Given the description of an element on the screen output the (x, y) to click on. 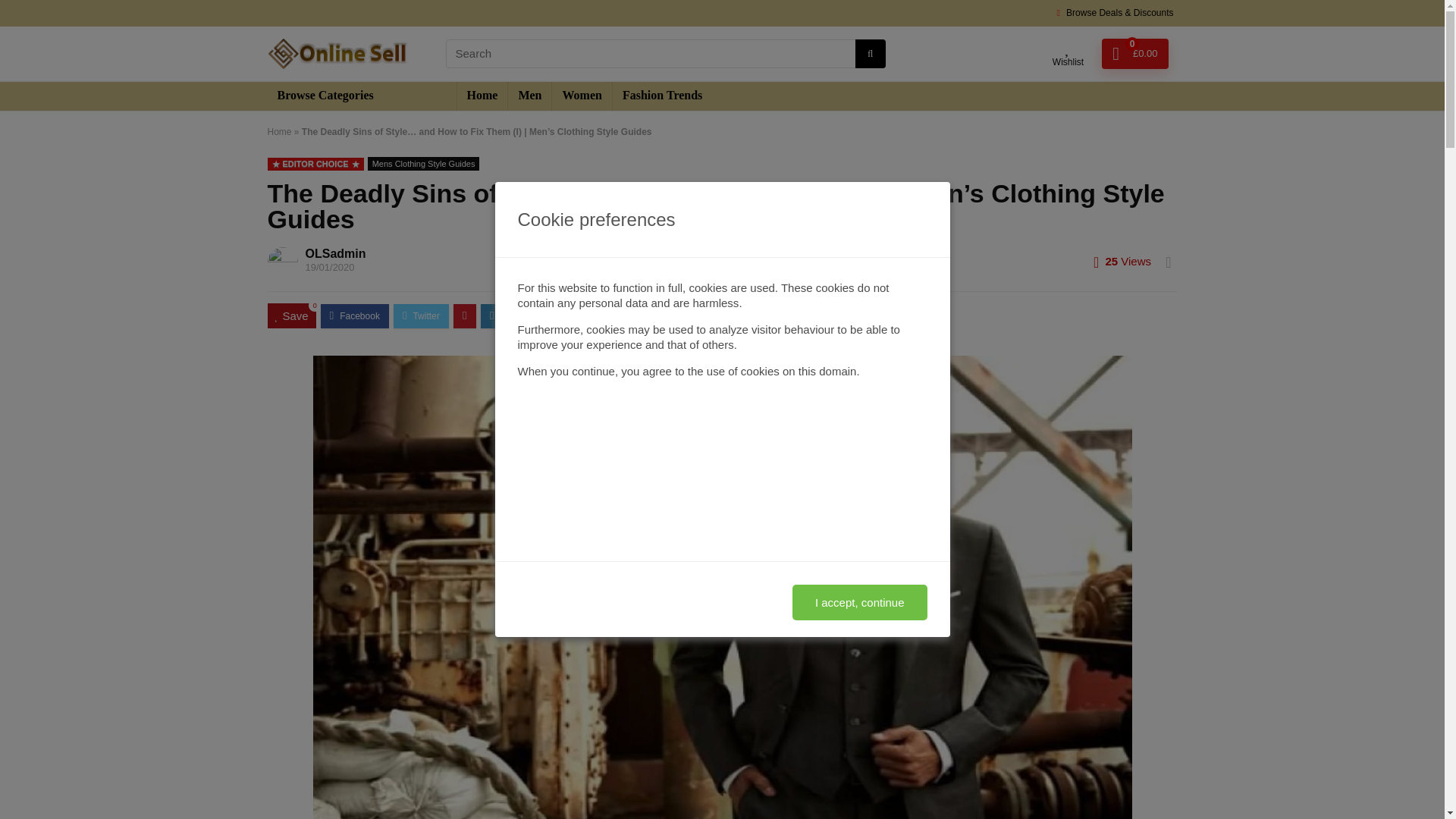
Home (481, 95)
Men (529, 95)
Browse Categories (360, 95)
Fashion Trends (661, 95)
View all posts in Mens Clothing Style Guides (424, 163)
Women (581, 95)
